Given the description of an element on the screen output the (x, y) to click on. 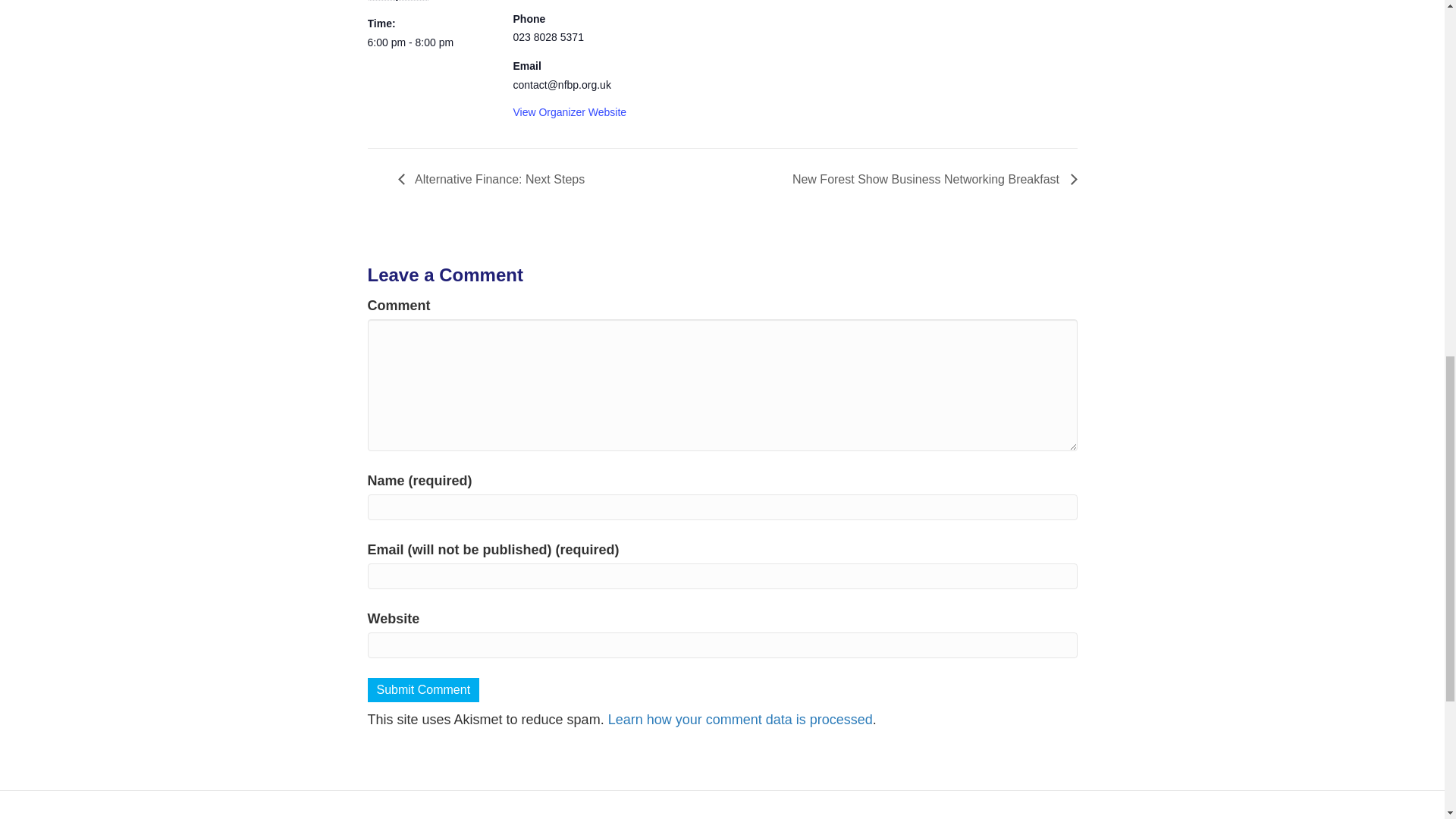
Submit Comment (422, 689)
2015-07-15 (397, 0)
2015-07-15 (430, 43)
